Given the description of an element on the screen output the (x, y) to click on. 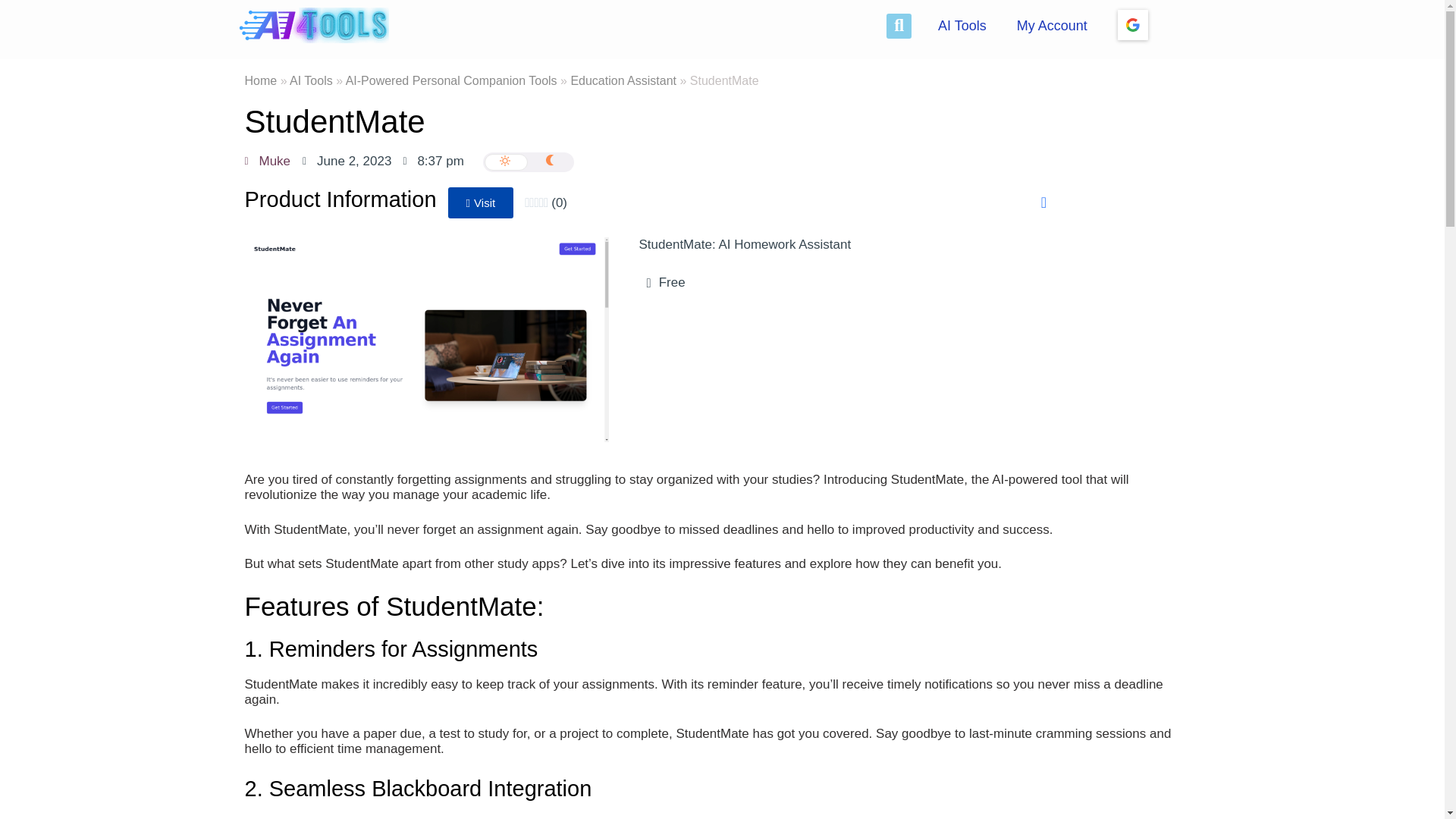
My Account (1051, 25)
Home (260, 80)
AI Tools (962, 25)
Muke (266, 160)
Education Assistant (623, 80)
AI-Powered Personal Companion Tools (451, 80)
Visit (480, 202)
AI Tools (311, 80)
